Given the description of an element on the screen output the (x, y) to click on. 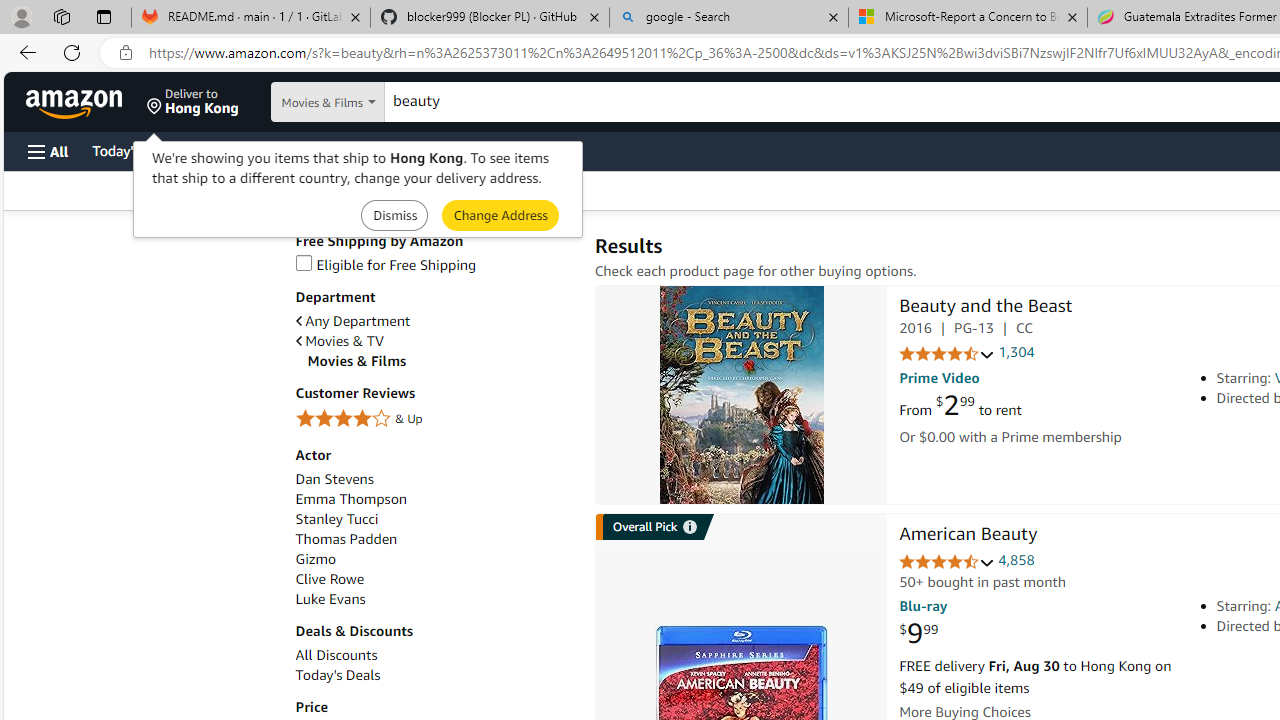
Thomas Padden (434, 539)
4 Stars & Up (434, 419)
Gizmo (315, 559)
Luke Evans (434, 599)
Blu-ray (923, 606)
Today's Deals (337, 675)
Customer Service (256, 150)
Clive Rowe (329, 579)
All Discounts (434, 655)
Emma Thompson (434, 499)
Eligible for Free Shipping (385, 264)
